Given the description of an element on the screen output the (x, y) to click on. 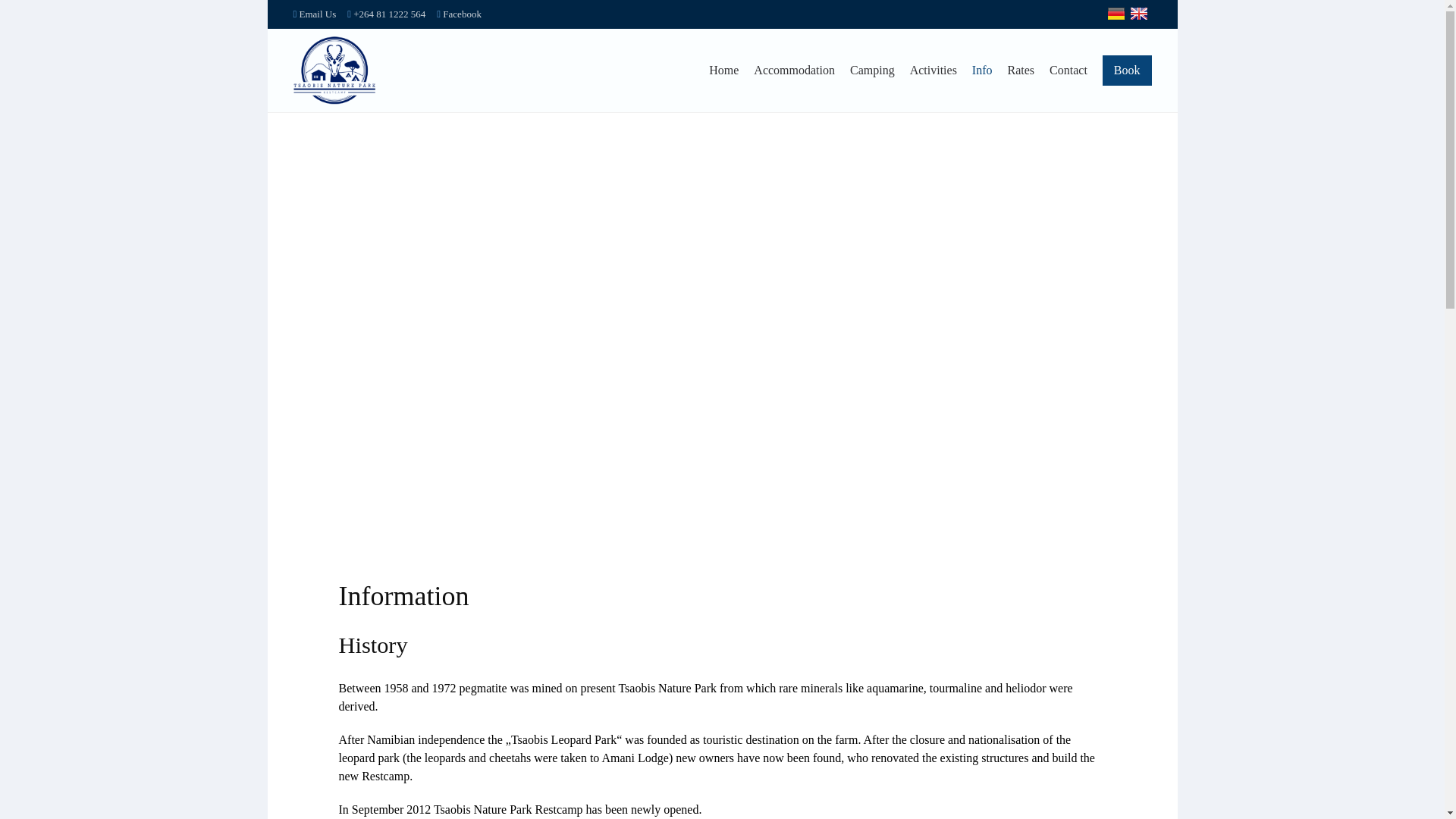
Book (1126, 70)
Home (723, 70)
Activities (933, 70)
Facebook (458, 13)
Email Us (314, 13)
Camping (872, 70)
Rates (1021, 70)
Email Us (314, 13)
Info (982, 70)
Facebook (458, 13)
Accommodation (794, 70)
Contact (1068, 70)
